Given the description of an element on the screen output the (x, y) to click on. 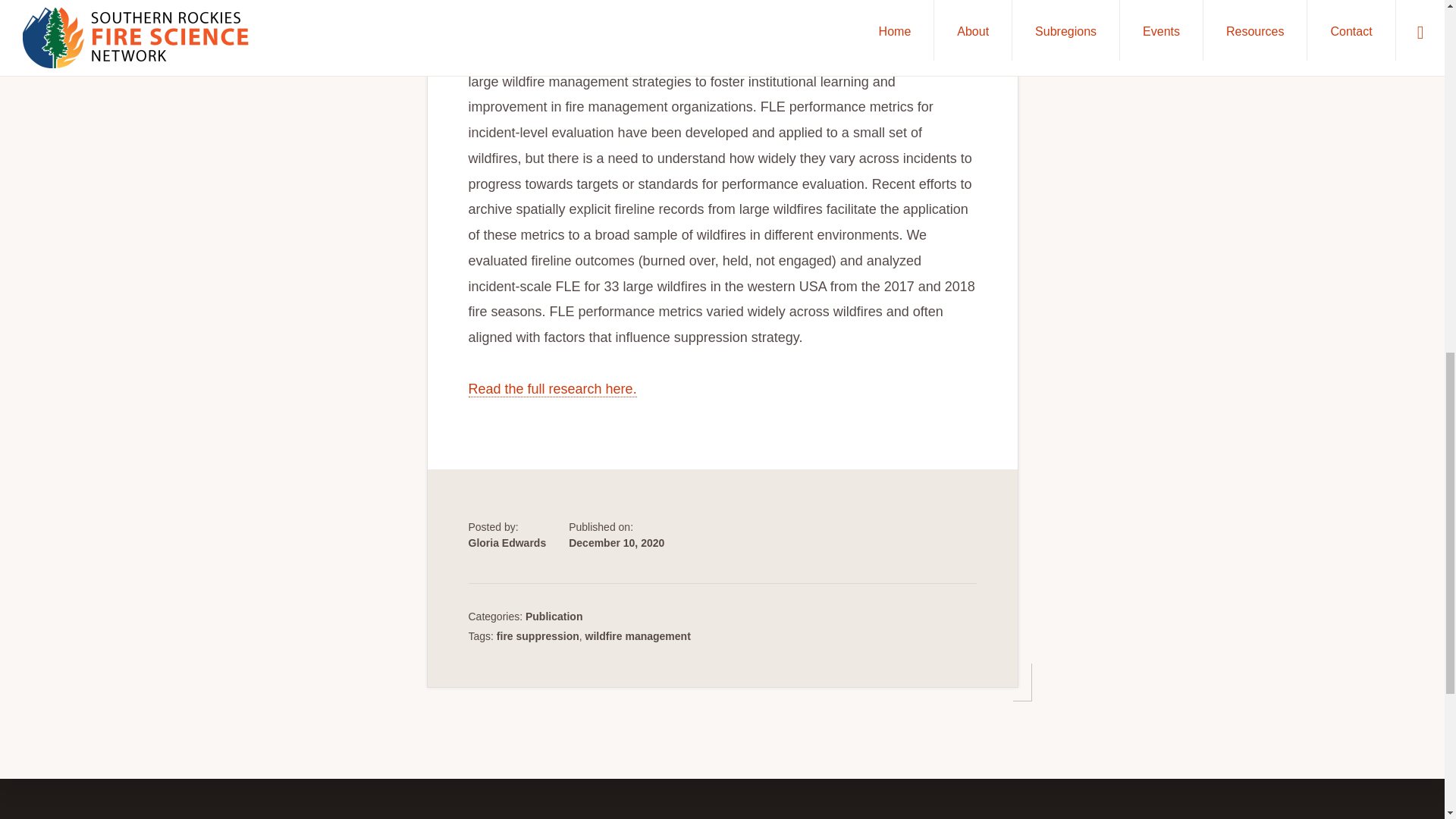
wildfire management (637, 635)
Gloria Edwards (507, 542)
Publication (553, 616)
fire suppression (537, 635)
Read the full research here. (552, 389)
